Given the description of an element on the screen output the (x, y) to click on. 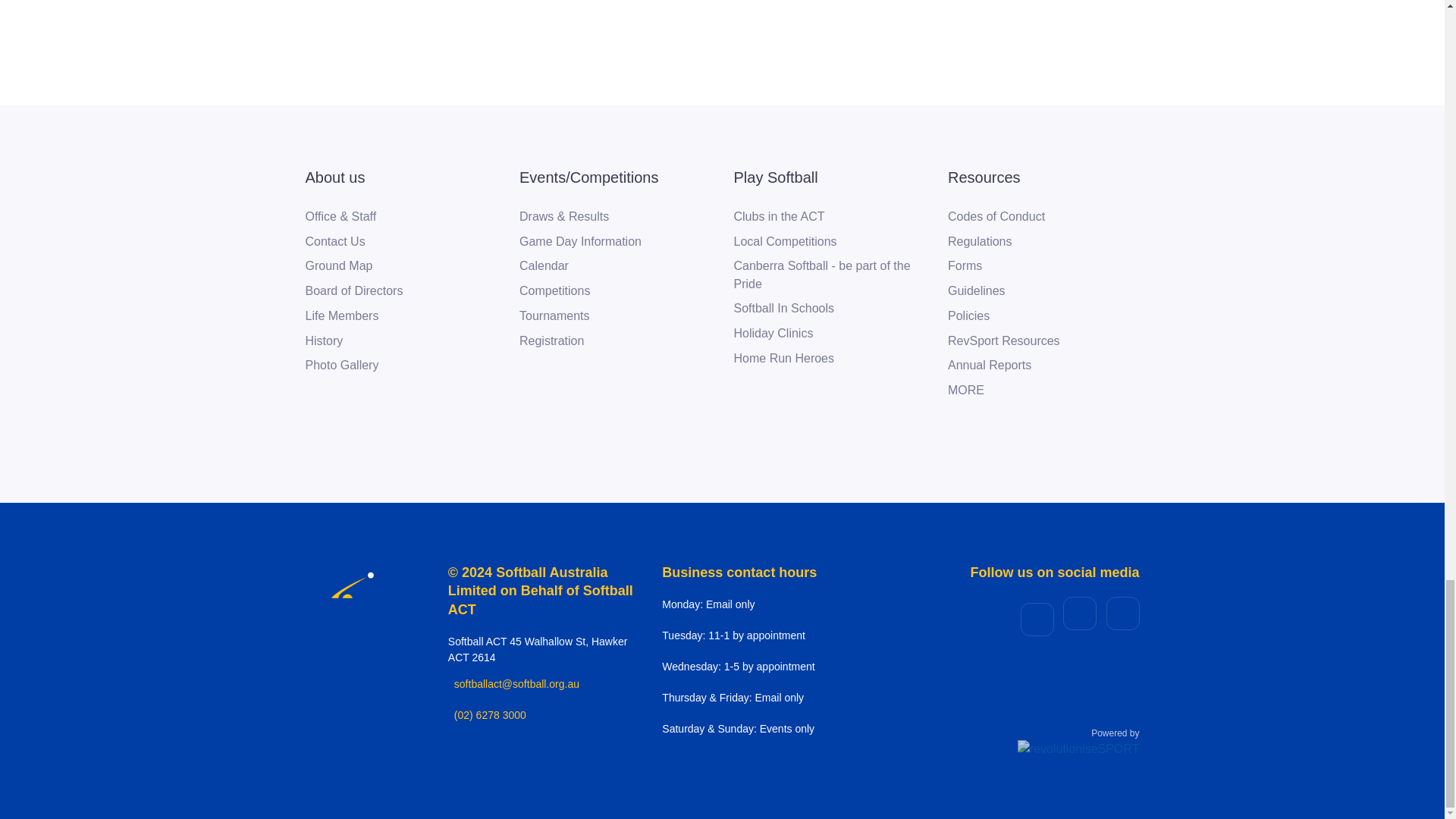
Opens in new window (783, 358)
Opens in new window (588, 177)
Opens in new window (323, 341)
Opens in new window (1003, 341)
